Given the description of an element on the screen output the (x, y) to click on. 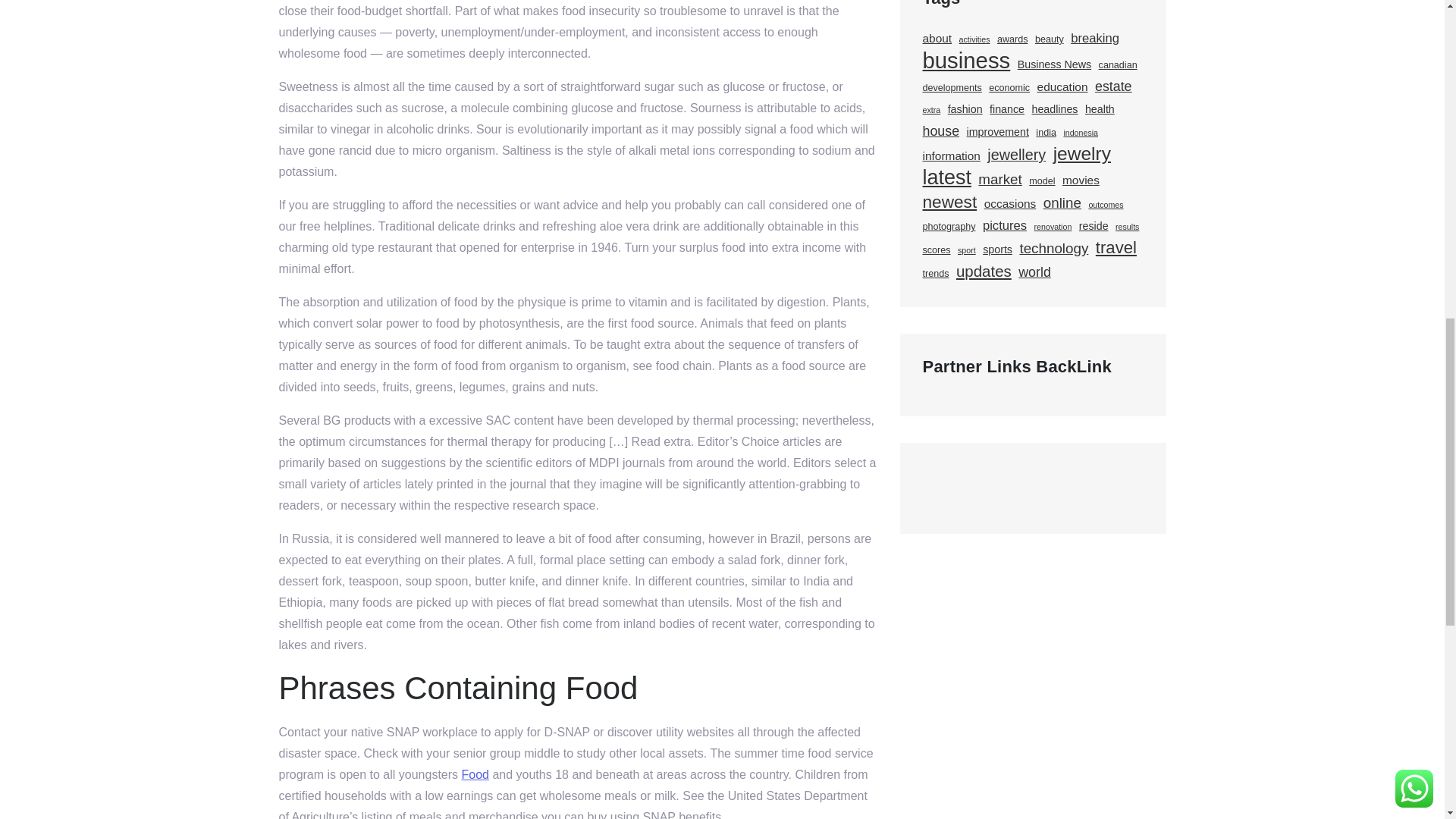
fashion (964, 108)
activities (974, 38)
canadian (1118, 65)
finance (1007, 108)
house (940, 130)
about (936, 38)
headlines (1053, 108)
awards (1012, 38)
health (1099, 108)
estate (1113, 86)
business (965, 60)
breaking (1094, 38)
education (1061, 86)
Food (475, 774)
developments (951, 87)
